Given the description of an element on the screen output the (x, y) to click on. 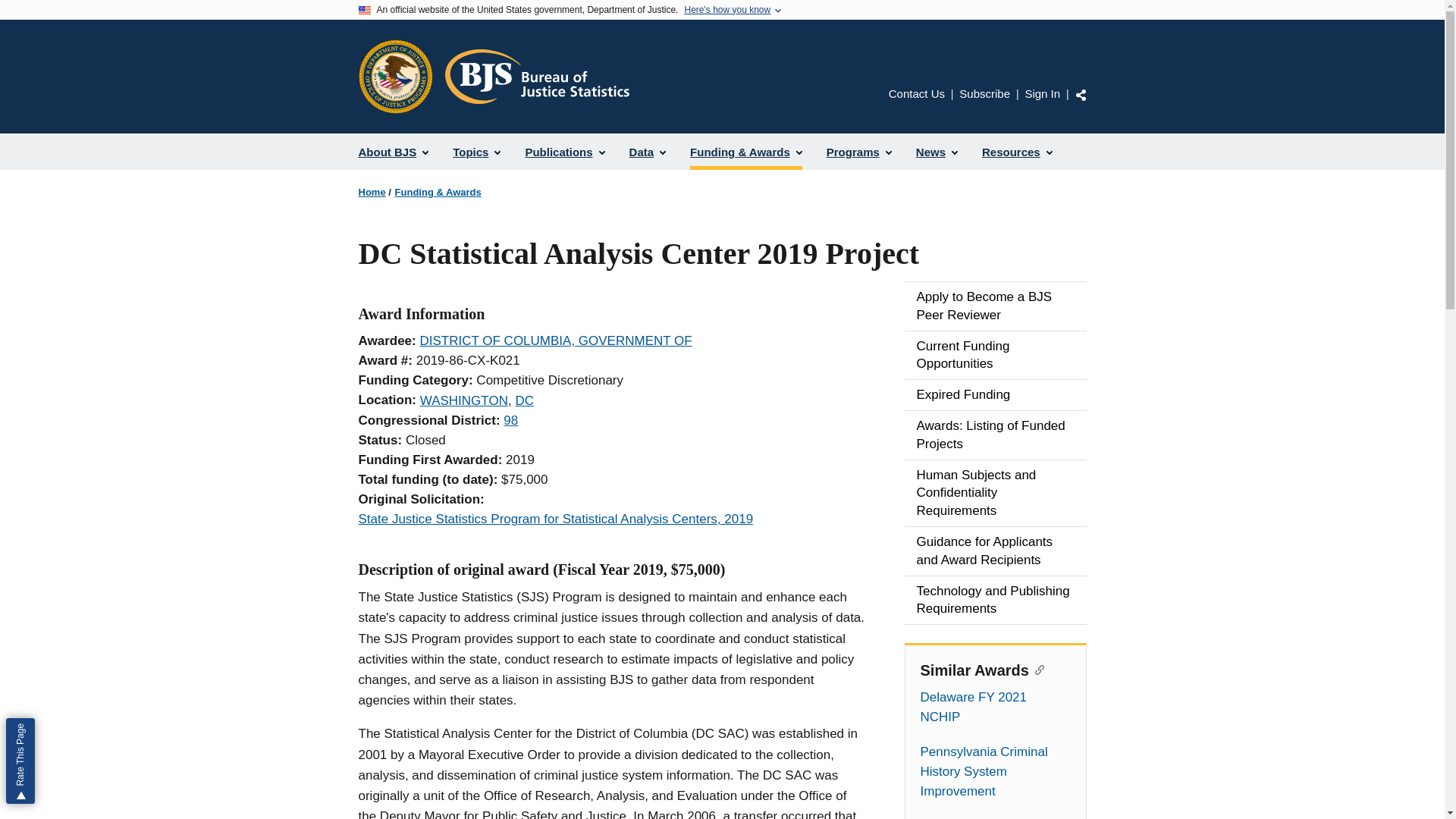
Awards: Listing of Funded Projects (995, 435)
Here's how you know (727, 9)
Office of Justice Programs (395, 76)
Programs (858, 151)
Share (1080, 94)
Publications (563, 151)
Data (647, 151)
Apply to Become a BJS Peer Reviewer (995, 305)
Delaware FY 2021 NCHIP (995, 707)
Resources (1016, 151)
Choose a social sharing platform (1080, 94)
Home (371, 192)
Sign In (1042, 93)
About BJS (393, 151)
Technology and Publishing Requirements (995, 600)
